Given the description of an element on the screen output the (x, y) to click on. 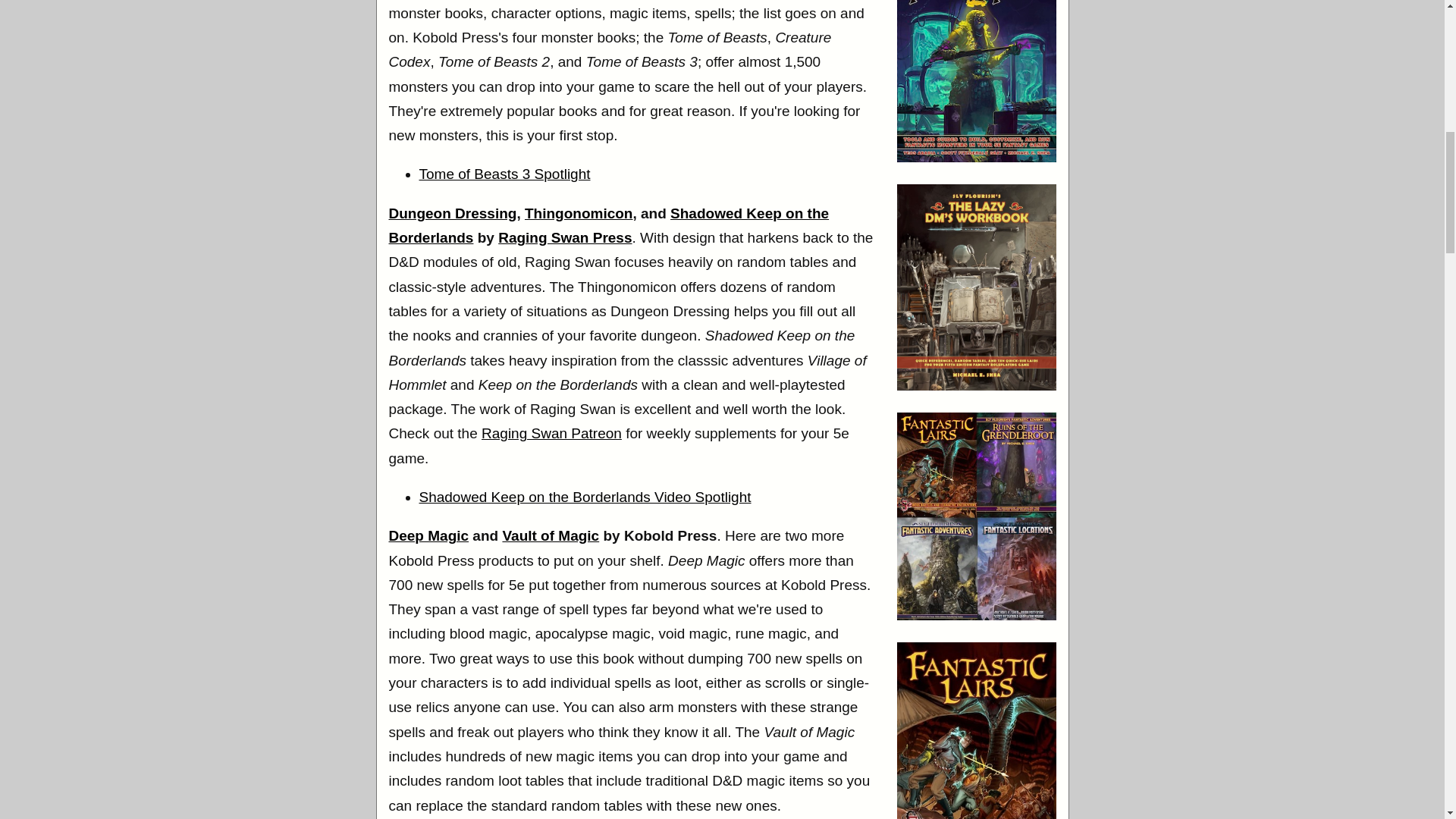
Shadowed Keep on the Borderlands (608, 225)
Raging Swan Patreon (551, 433)
Vault of Magic (550, 535)
Shadowed Keep on the Borderlands Video Spotlight (585, 496)
Deep Magic (428, 535)
Thingonomicon (577, 213)
Raging Swan Press (564, 237)
Tome of Beasts 3 Spotlight (504, 173)
Dungeon Dressing (452, 213)
